Given the description of an element on the screen output the (x, y) to click on. 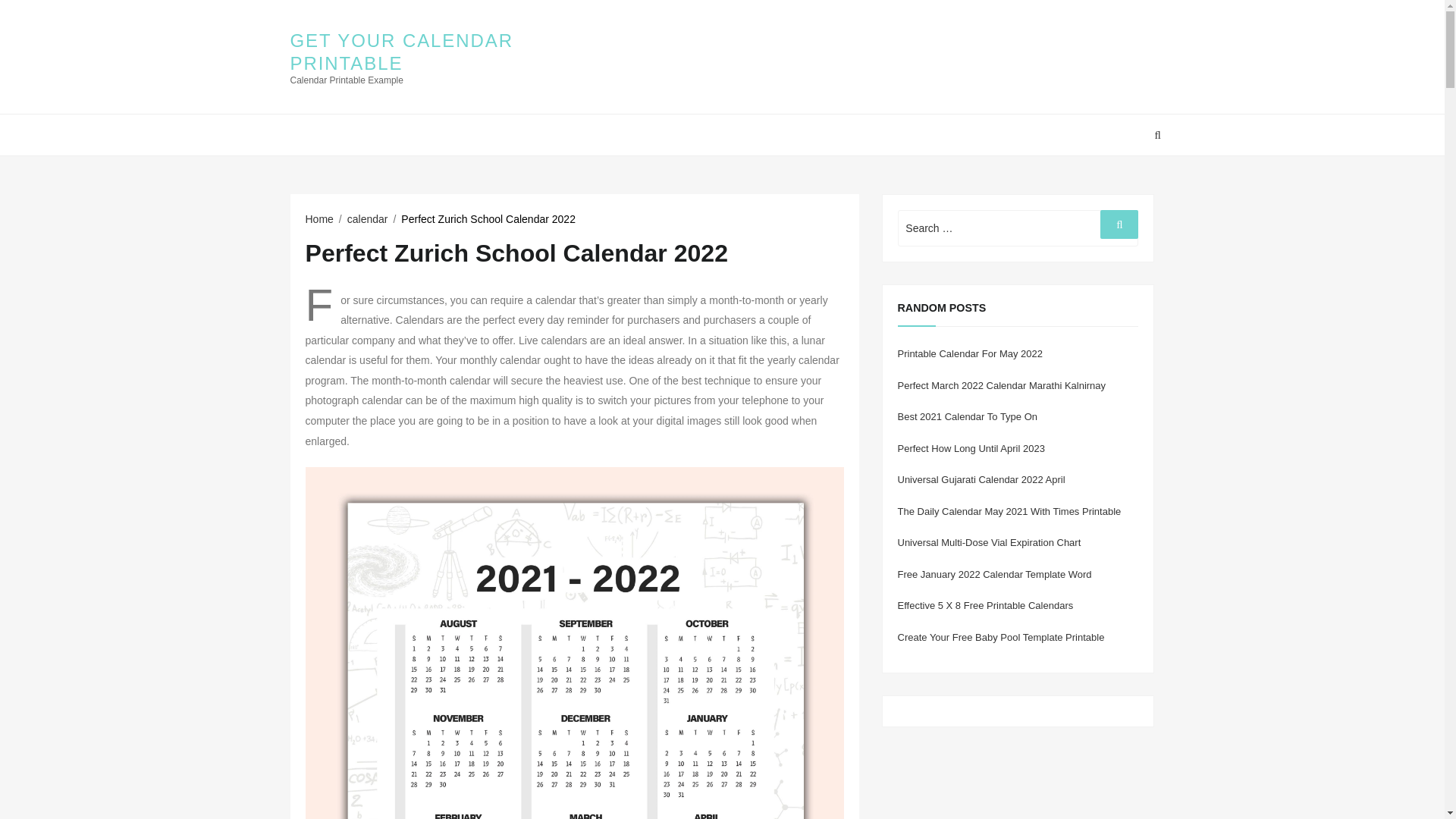
Create Your Free Baby Pool Template Printable (1001, 636)
Search (1119, 224)
Perfect How Long Until April 2023 (971, 448)
The Daily Calendar May 2021 With Times Printable (1009, 511)
Free January 2022 Calendar Template Word (995, 573)
Best 2021 Calendar To Type On (968, 416)
calendar (367, 218)
GET YOUR CALENDAR PRINTABLE (400, 51)
Universal Multi-Dose Vial Expiration Chart (989, 542)
Printable Calendar For May 2022 (970, 353)
Effective 5 X 8 Free Printable Calendars (986, 604)
Perfect March 2022 Calendar Marathi Kalnirnay (1002, 385)
Universal Gujarati Calendar 2022 April (981, 479)
Home (318, 218)
